Given the description of an element on the screen output the (x, y) to click on. 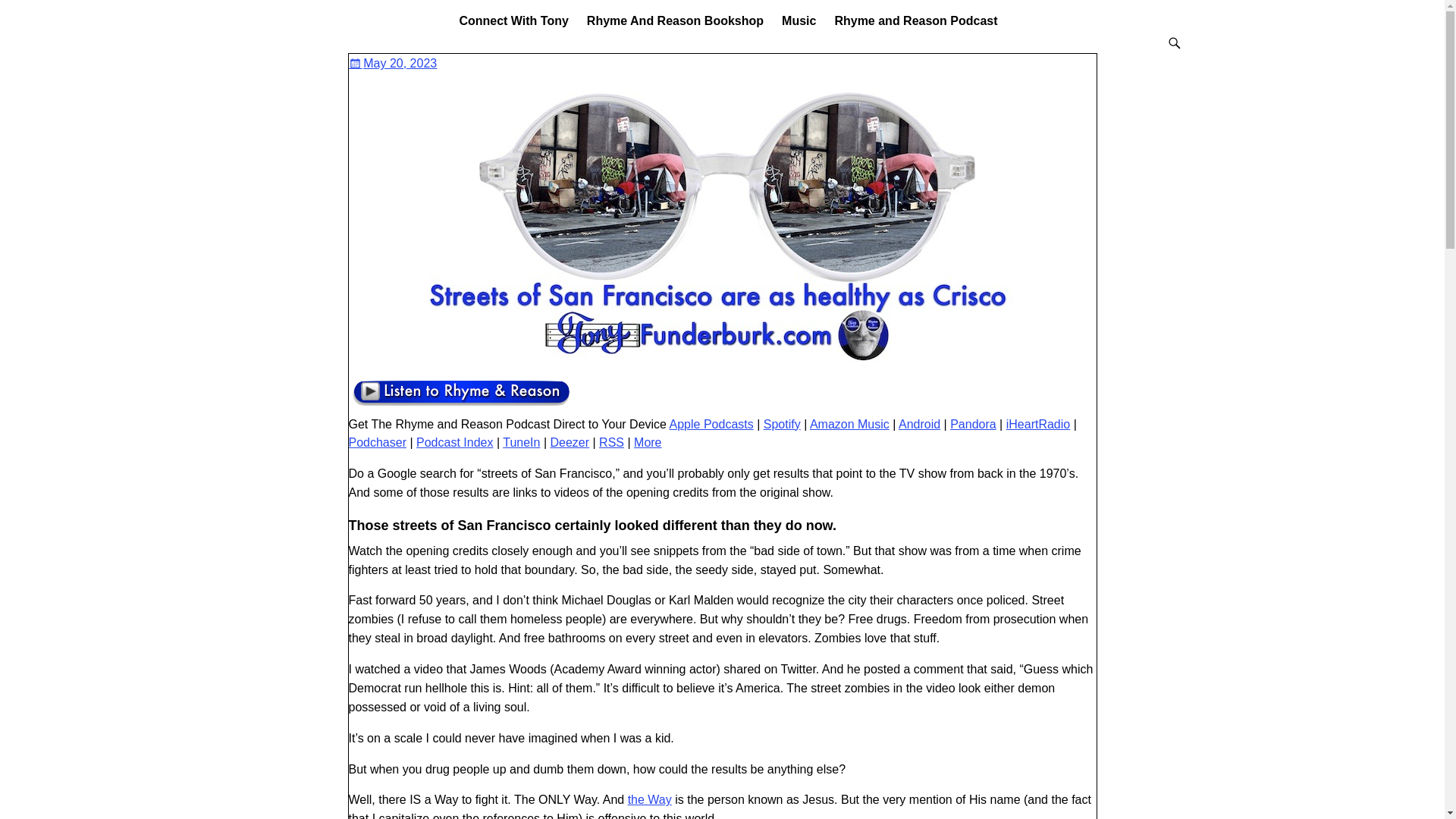
Play (461, 404)
RSS (611, 441)
Subscribe on Android (919, 423)
Subscribe on TuneIn (521, 441)
Music (799, 20)
Podcast Index (454, 441)
iHeartRadio (1038, 423)
Subscribe on Spotify (781, 423)
Podchaser (378, 441)
Rhyme and Reason Podcast (915, 20)
